Given the description of an element on the screen output the (x, y) to click on. 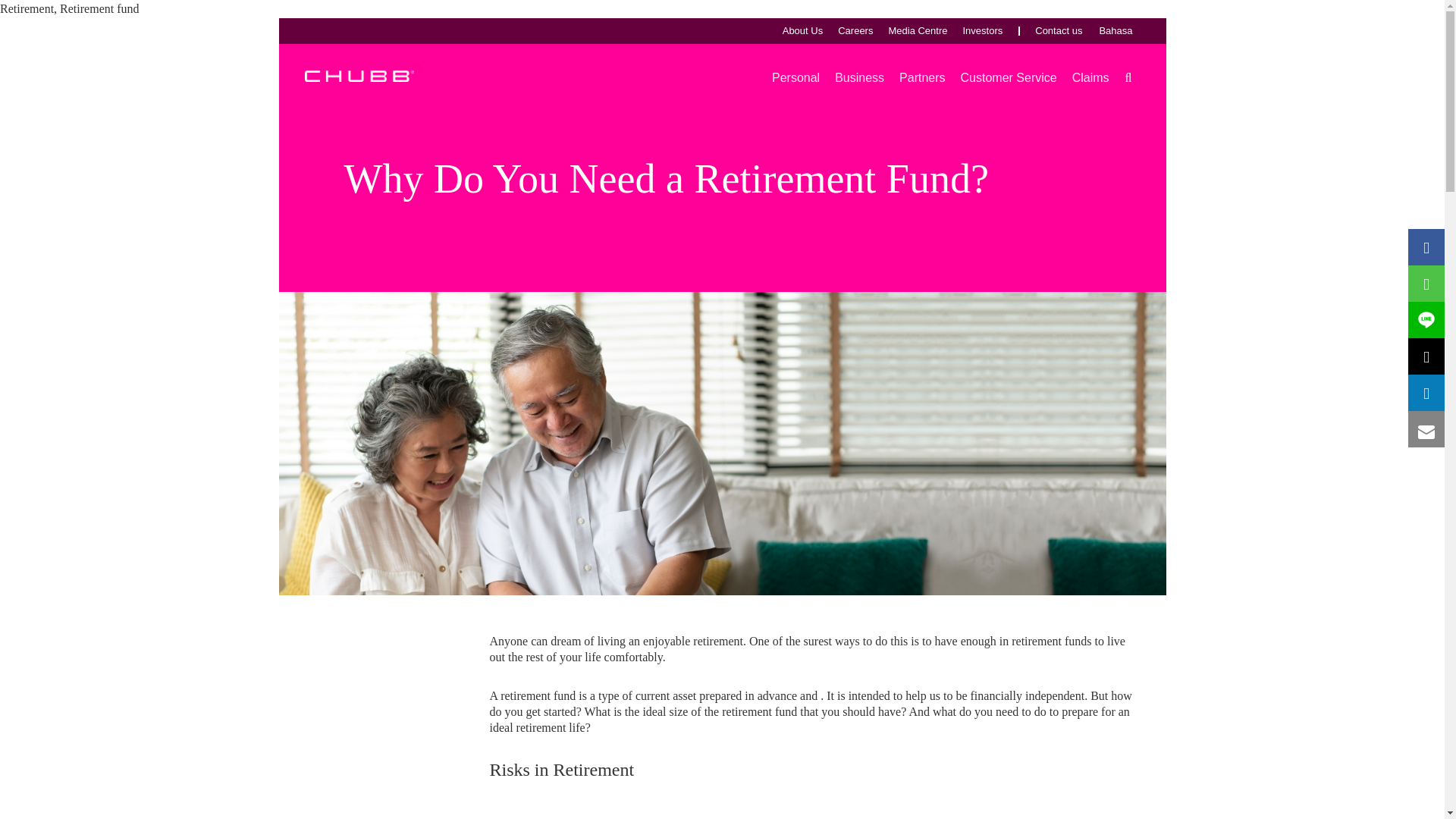
Media Centre (917, 31)
Contact us (1058, 31)
Personal (795, 77)
Careers - Opens in a new window (855, 31)
Bahasa (1115, 31)
Personal (795, 77)
Email (1425, 432)
Media Centre (917, 31)
Careers (855, 31)
Chubb (358, 73)
Bahasa (1115, 31)
Business (858, 77)
Investors (982, 31)
Investors - Opens in a new window (982, 31)
About Us (802, 31)
